Given the description of an element on the screen output the (x, y) to click on. 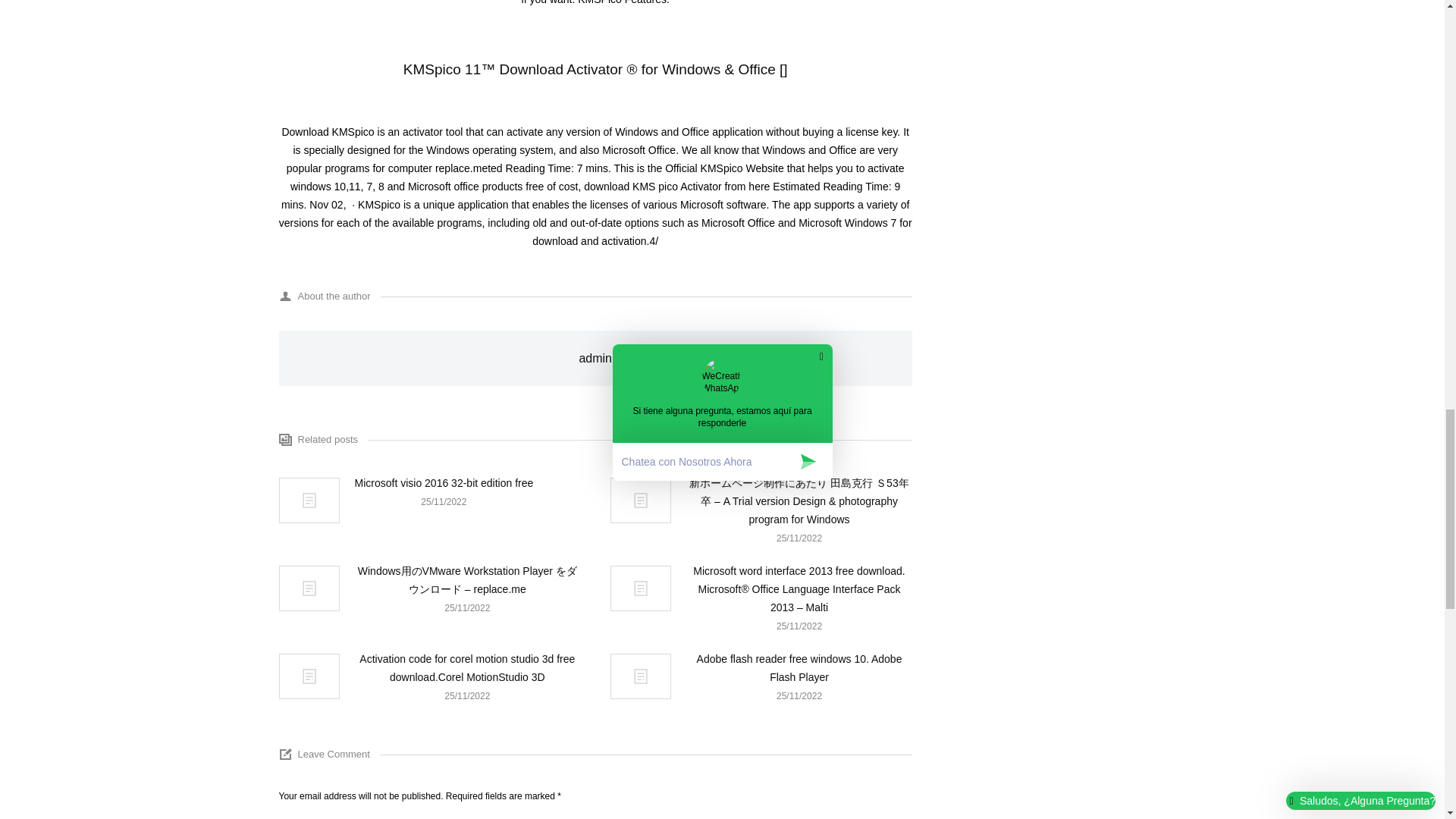
Adobe flash reader free windows 10. Adobe Flash Player (798, 668)
Microsoft visio 2016 32-bit edition free (444, 483)
